Given the description of an element on the screen output the (x, y) to click on. 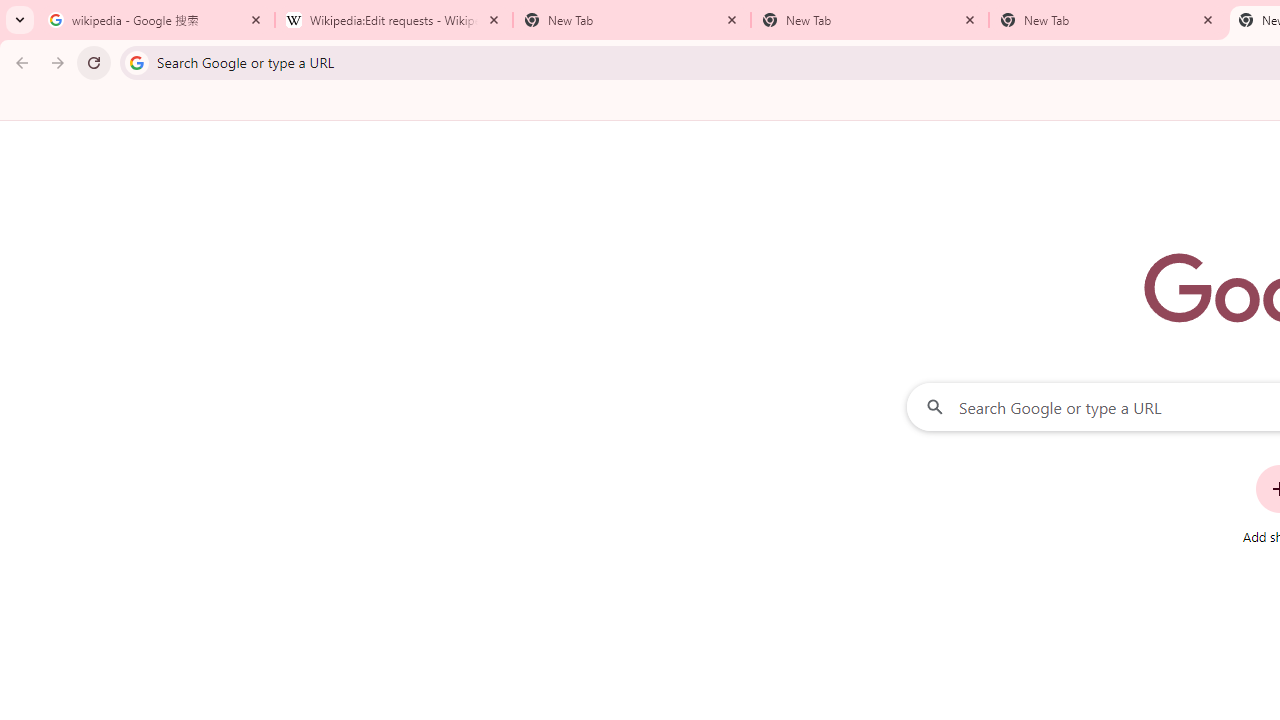
Wikipedia:Edit requests - Wikipedia (394, 20)
New Tab (1108, 20)
New Tab (870, 20)
